Given the description of an element on the screen output the (x, y) to click on. 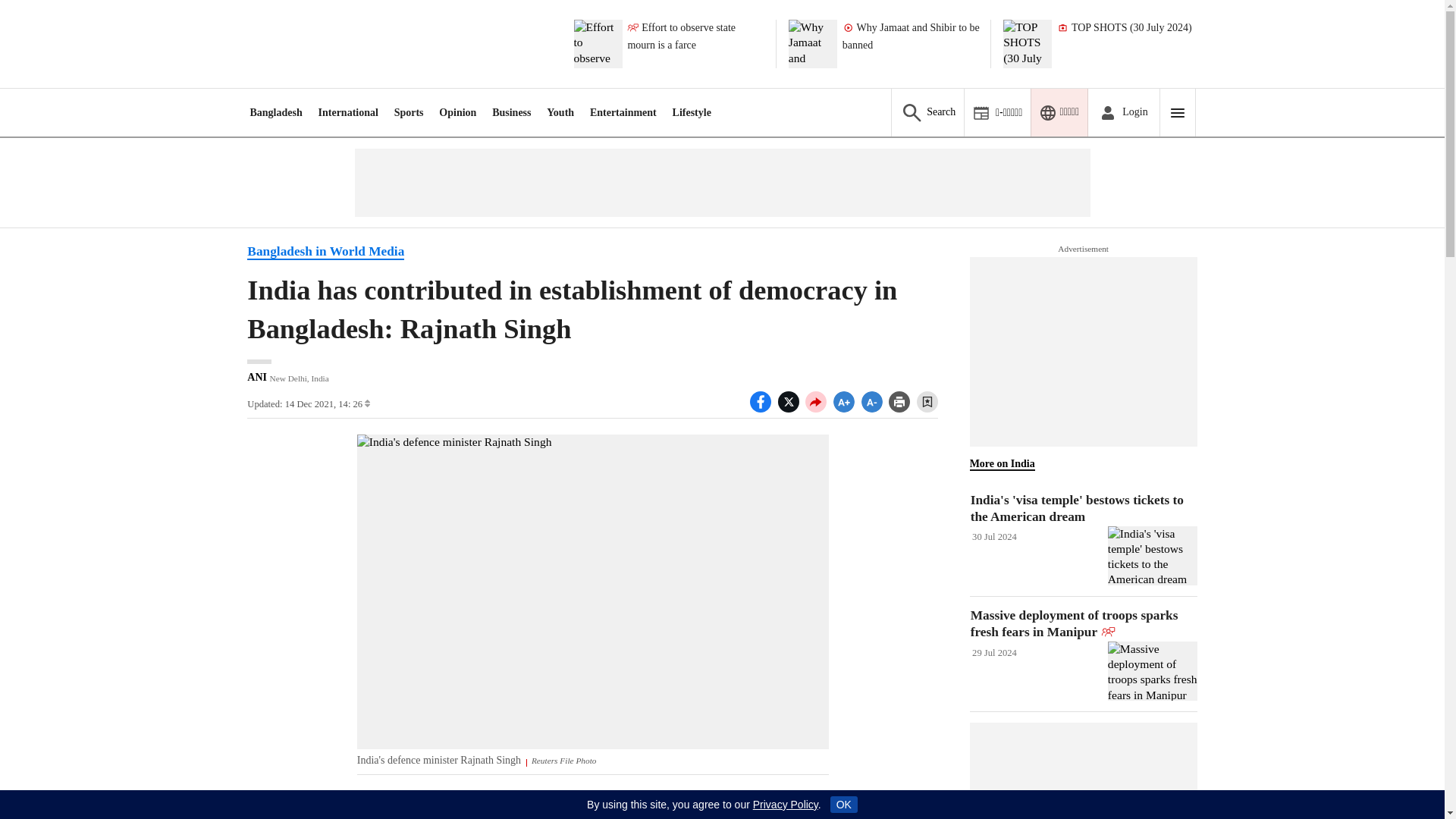
International (348, 112)
Opinion (457, 112)
OK (843, 804)
Why Jamaat and Shibir to be banned (911, 43)
Login (1122, 112)
Bangladesh (274, 112)
Entertainment (622, 112)
Sports (408, 112)
Privacy Policy (785, 804)
Search (926, 112)
